Given the description of an element on the screen output the (x, y) to click on. 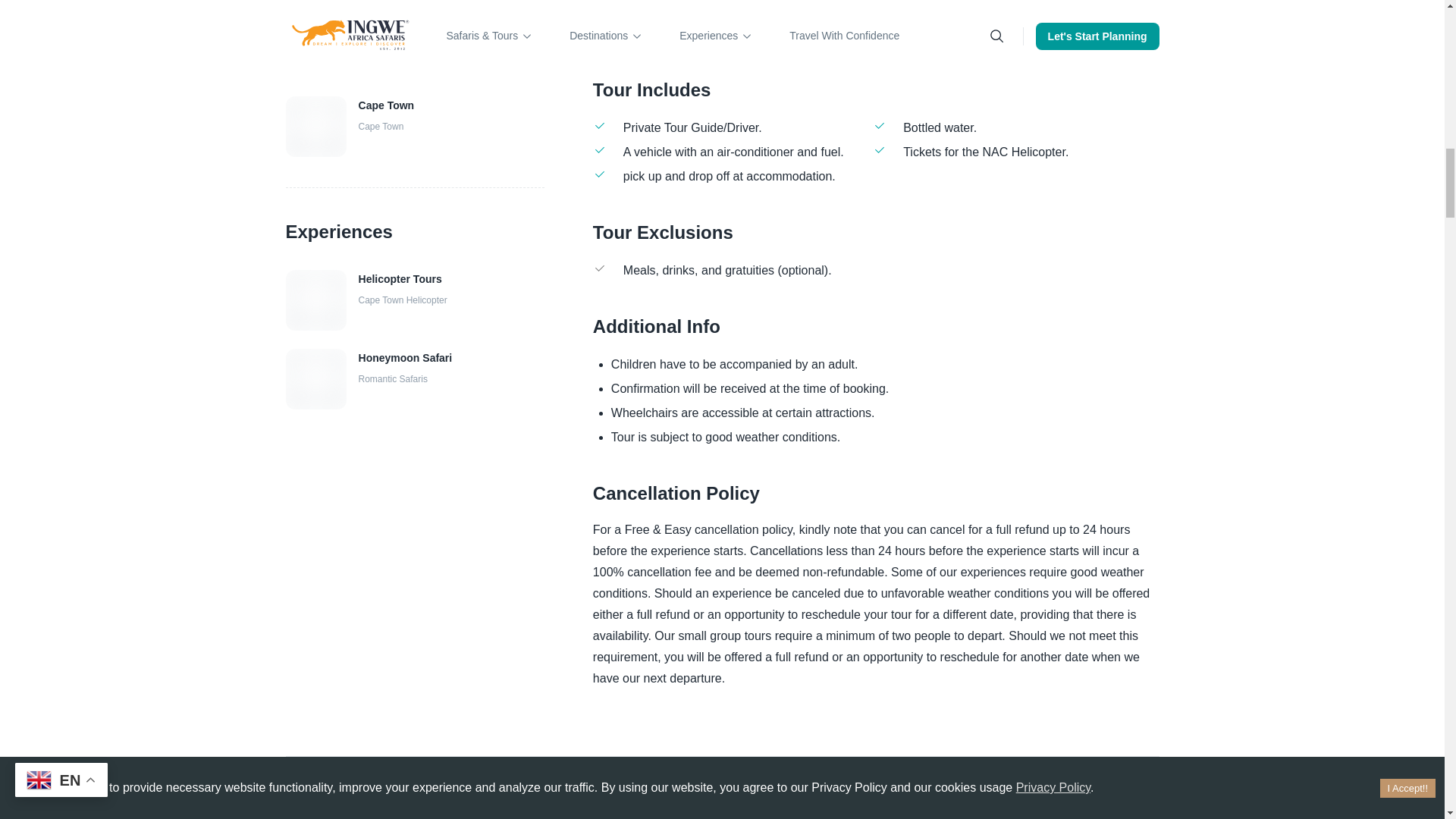
Honeymoon Safari (405, 358)
Cape Town (386, 106)
Helicopter Tours (402, 279)
